Given the description of an element on the screen output the (x, y) to click on. 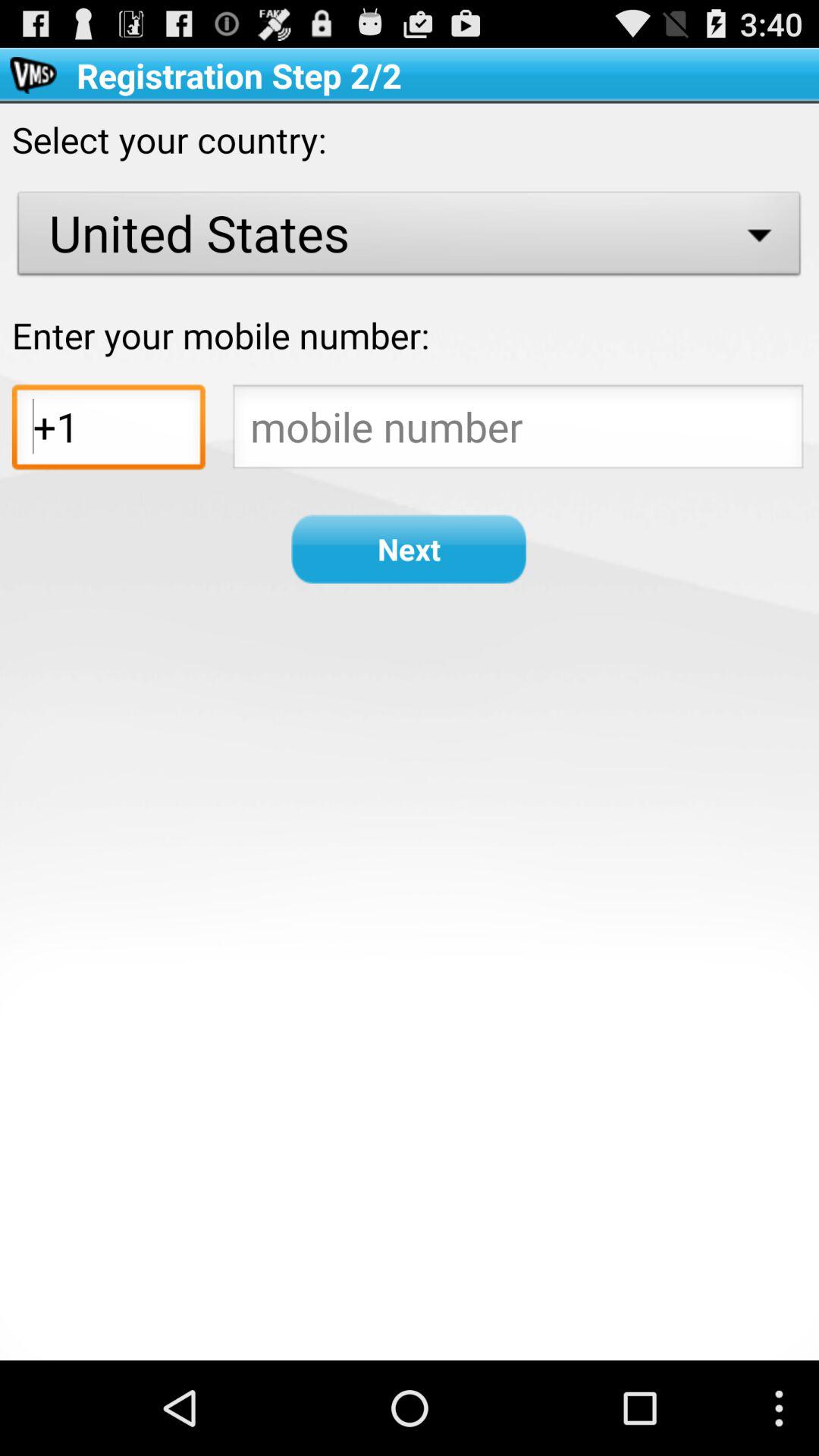
typing option (518, 430)
